Given the description of an element on the screen output the (x, y) to click on. 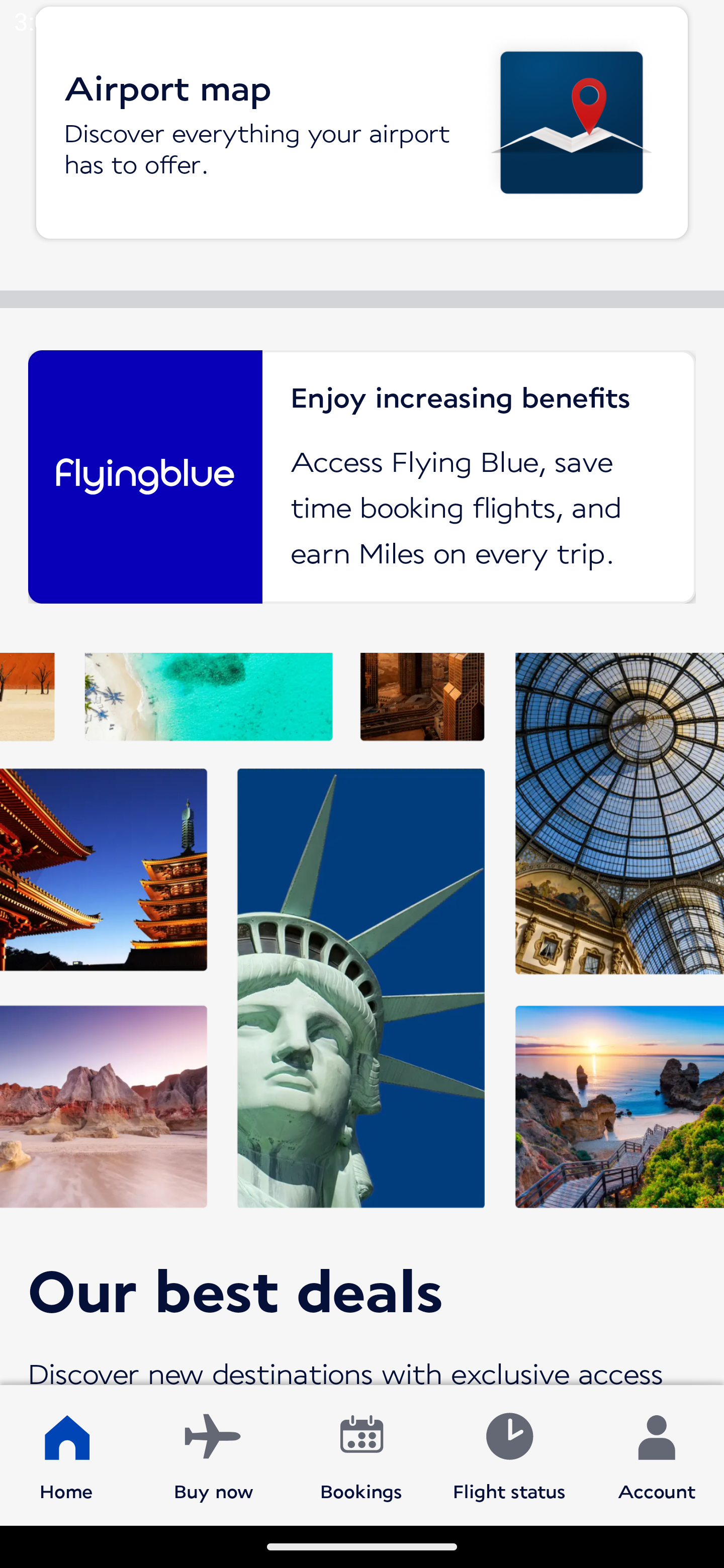
Buy now (213, 1454)
Bookings (361, 1454)
Flight status (509, 1454)
Account (657, 1454)
